Given the description of an element on the screen output the (x, y) to click on. 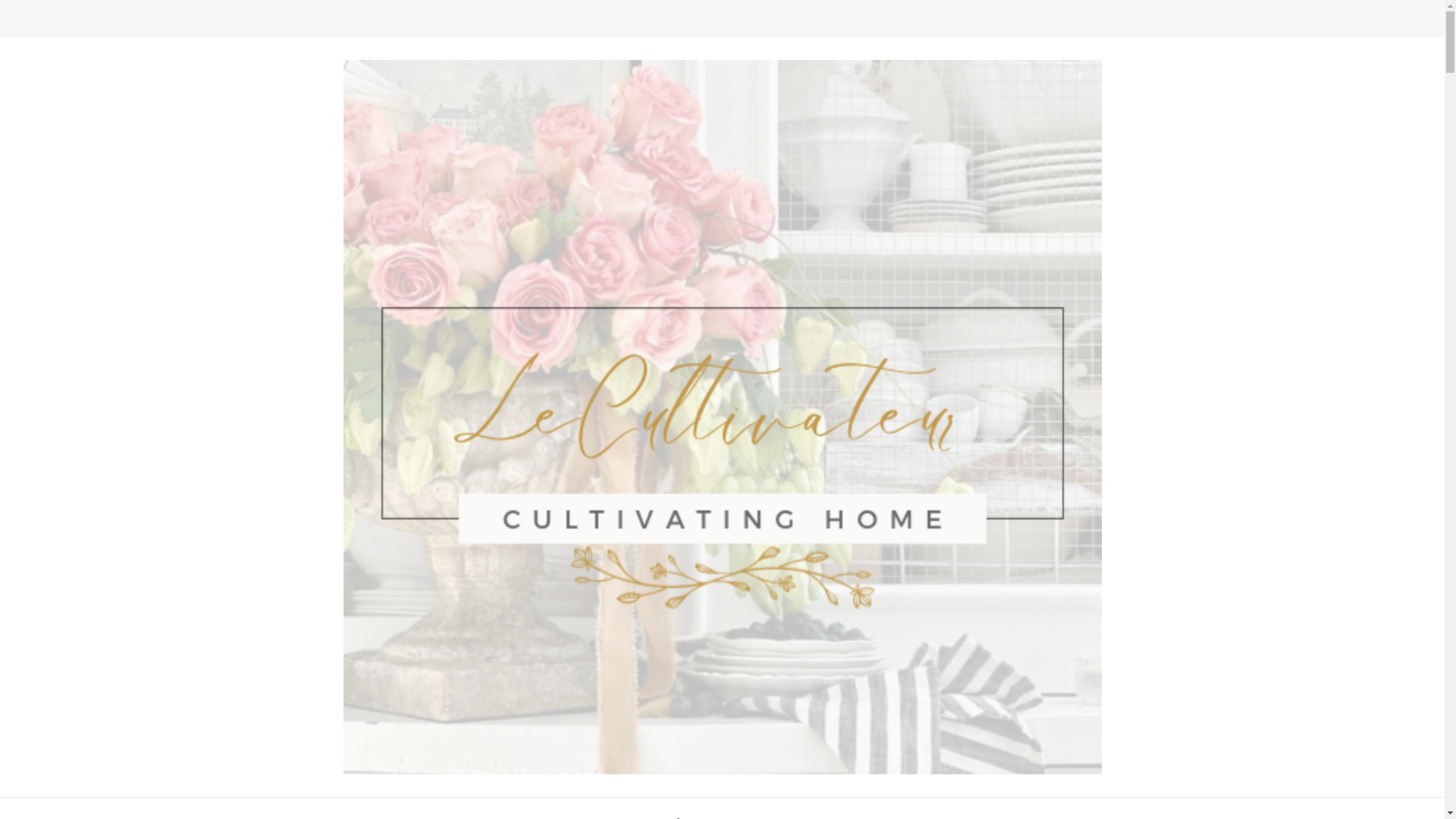
Search (1148, 22)
LeCultivateur (324, 787)
As Seen In (822, 808)
About (683, 808)
Contact (614, 808)
Home (747, 808)
